Given the description of an element on the screen output the (x, y) to click on. 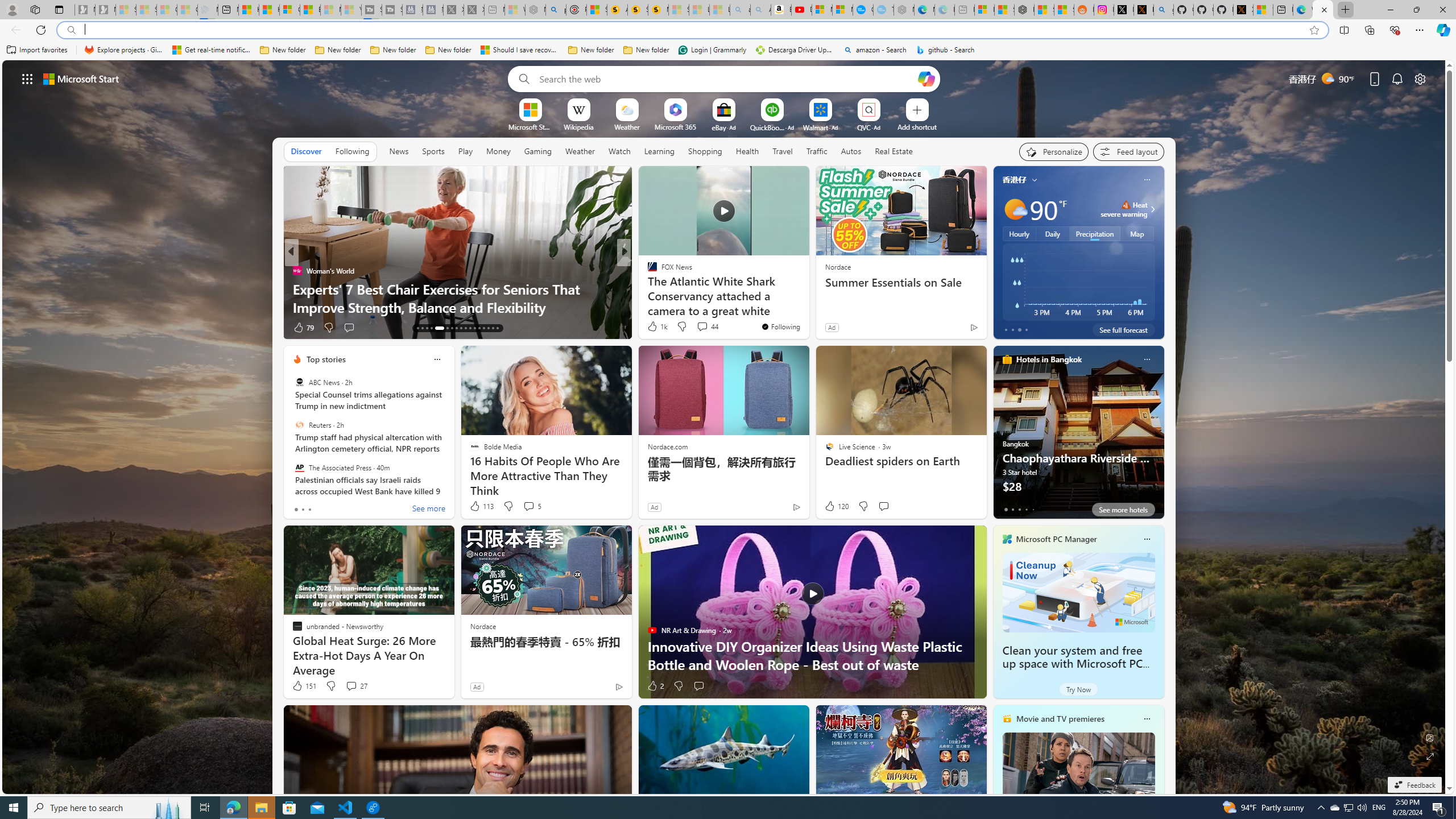
View comments 1 Comment (703, 327)
Precipitation (1094, 233)
AutomationID: tab-14 (422, 328)
Search icon (70, 29)
Minimize (1390, 9)
See more hotels (1123, 509)
Copilot (Ctrl+Shift+.) (1442, 29)
33 Like (652, 327)
AutomationID: backgroundImagePicture (723, 426)
The Weather Channel (647, 270)
See full forecast (1123, 329)
Mostly sunny (1014, 208)
